Given the description of an element on the screen output the (x, y) to click on. 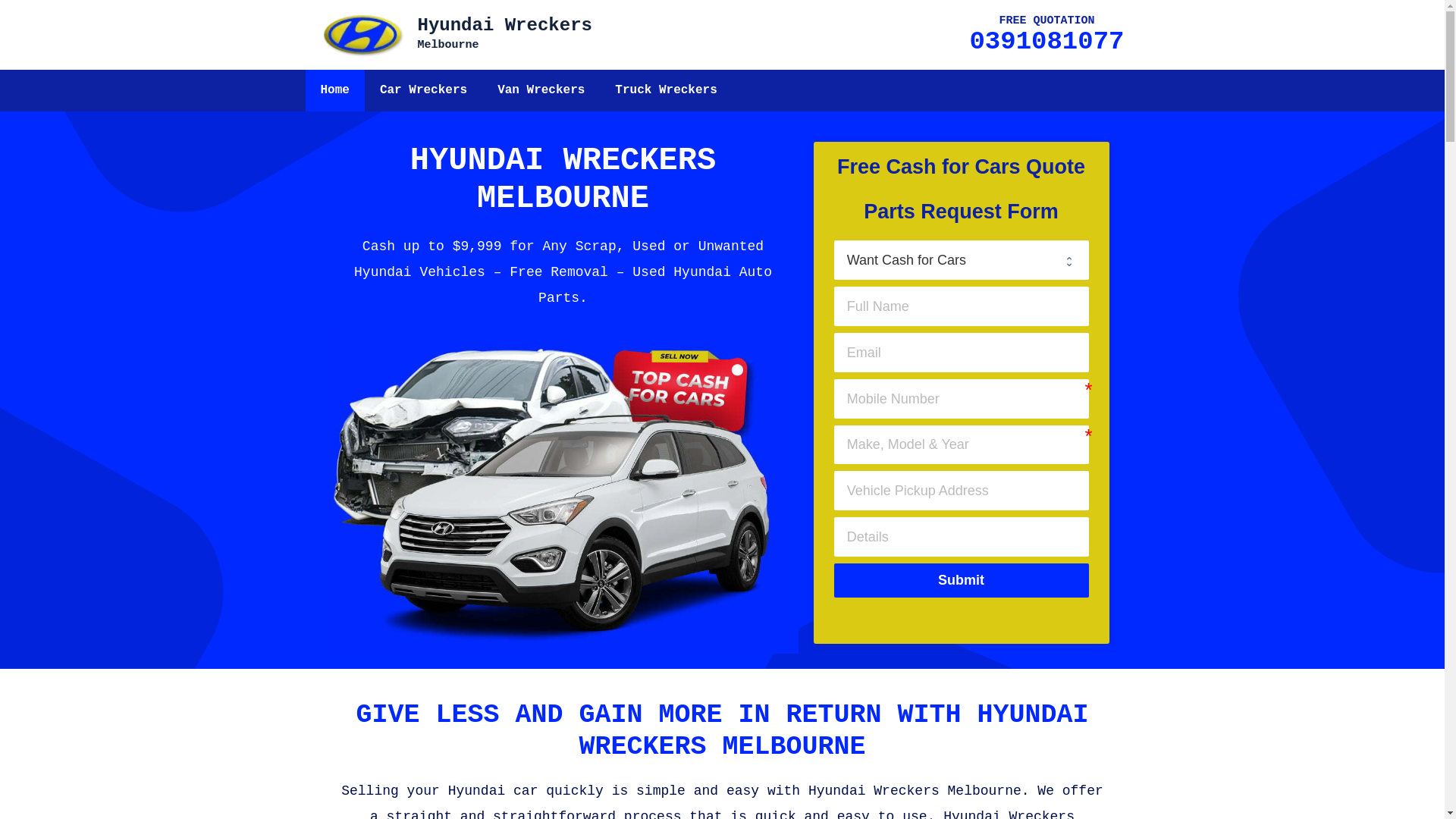
Hyundai Wreckers Melbourne Element type: hover (562, 492)
Hyundai Wreckers Element type: hover (361, 34)
0391081077 Element type: text (1046, 41)
Hyundai Wreckers Element type: hover (361, 34)
Truck Wreckers Element type: text (665, 90)
Home Element type: text (334, 90)
Car Wreckers Element type: text (423, 90)
Hyundai Wreckers Element type: text (504, 25)
Van Wreckers Element type: text (540, 90)
Submit Element type: text (961, 580)
